Given the description of an element on the screen output the (x, y) to click on. 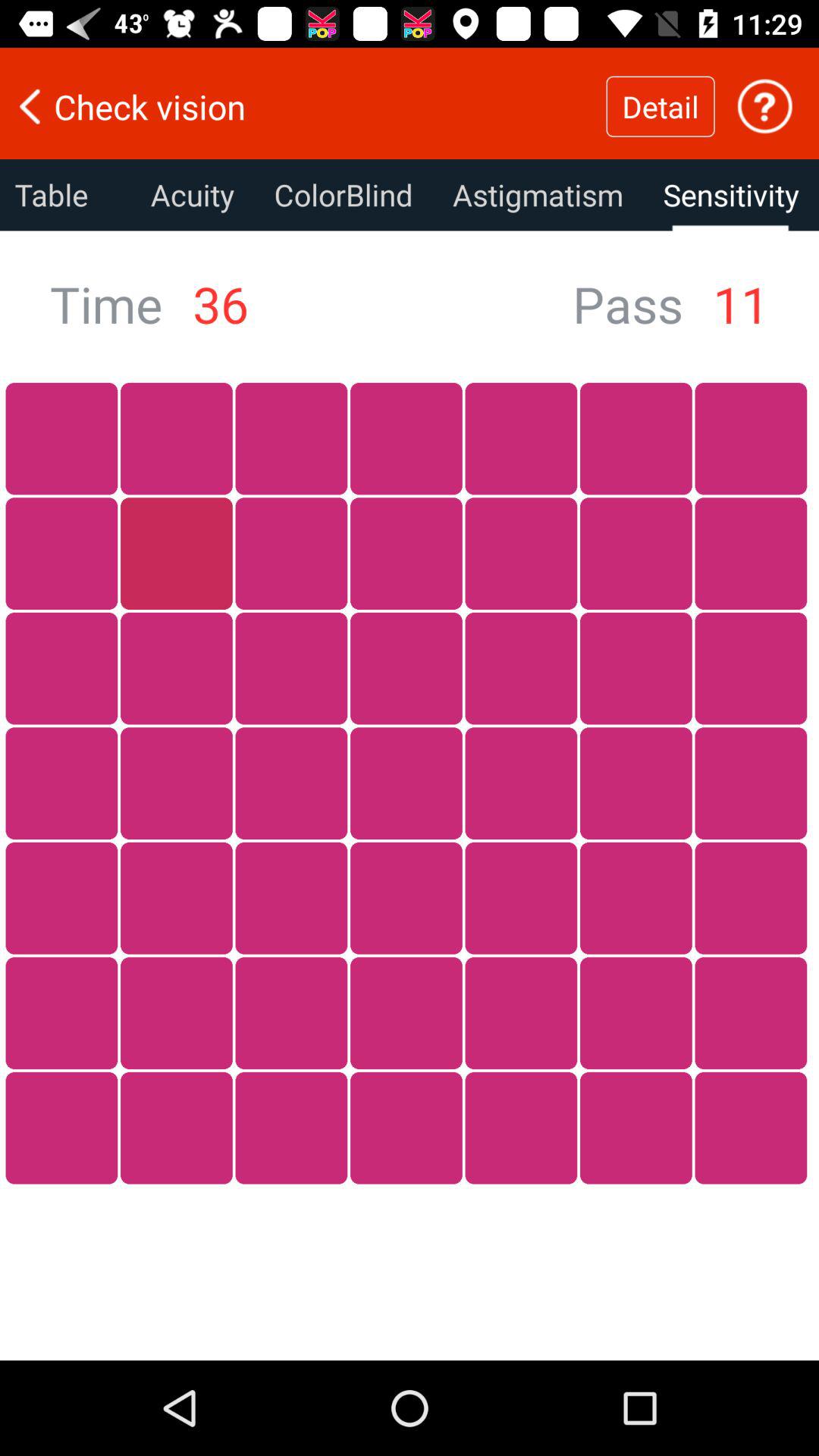
launch the icon next to the sensitivity (537, 194)
